Given the description of an element on the screen output the (x, y) to click on. 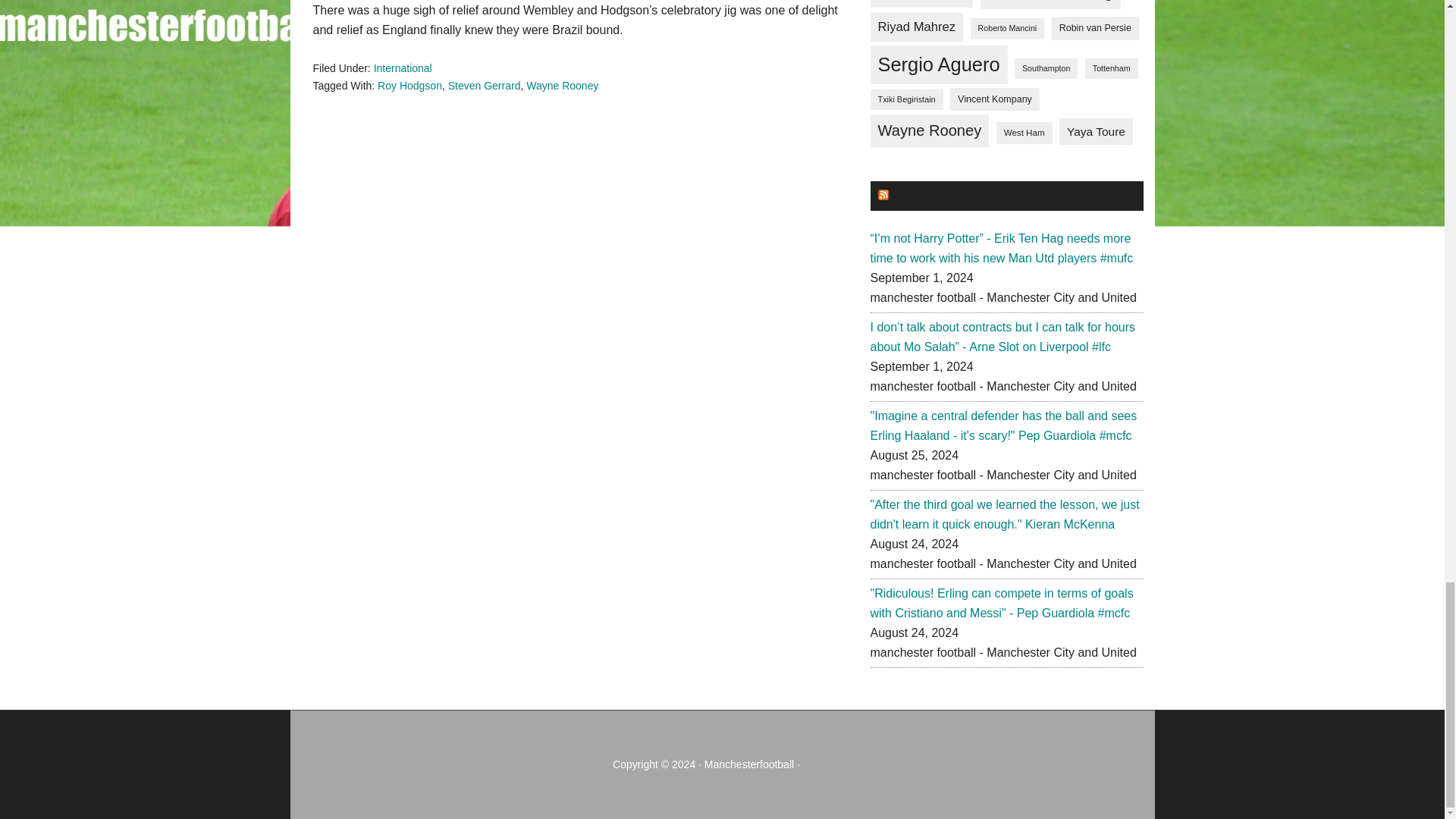
Roy Hodgson (409, 84)
Steven Gerrard (484, 84)
International (403, 68)
Wayne Rooney (561, 84)
